Given the description of an element on the screen output the (x, y) to click on. 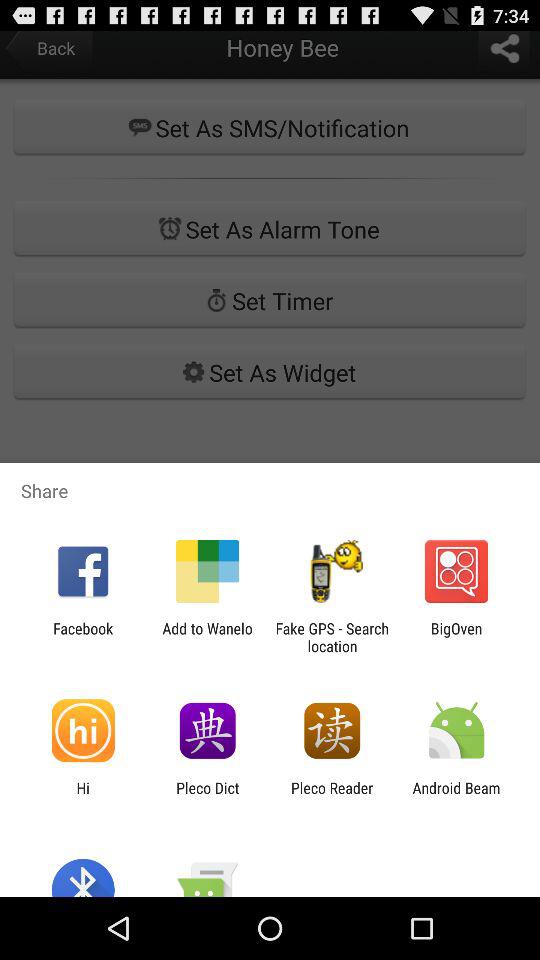
flip until the android beam (456, 796)
